Given the description of an element on the screen output the (x, y) to click on. 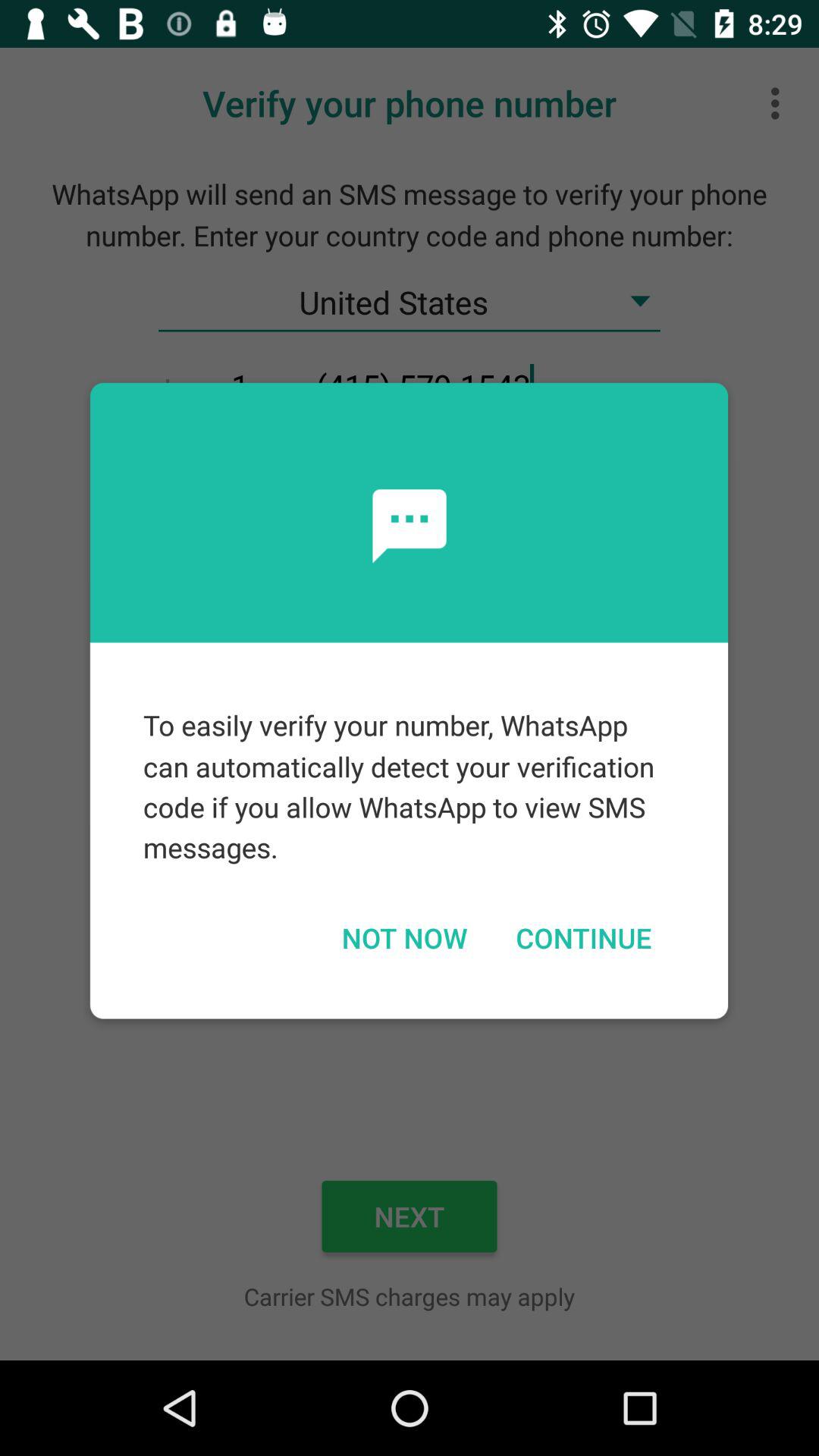
swipe to continue icon (583, 937)
